Given the description of an element on the screen output the (x, y) to click on. 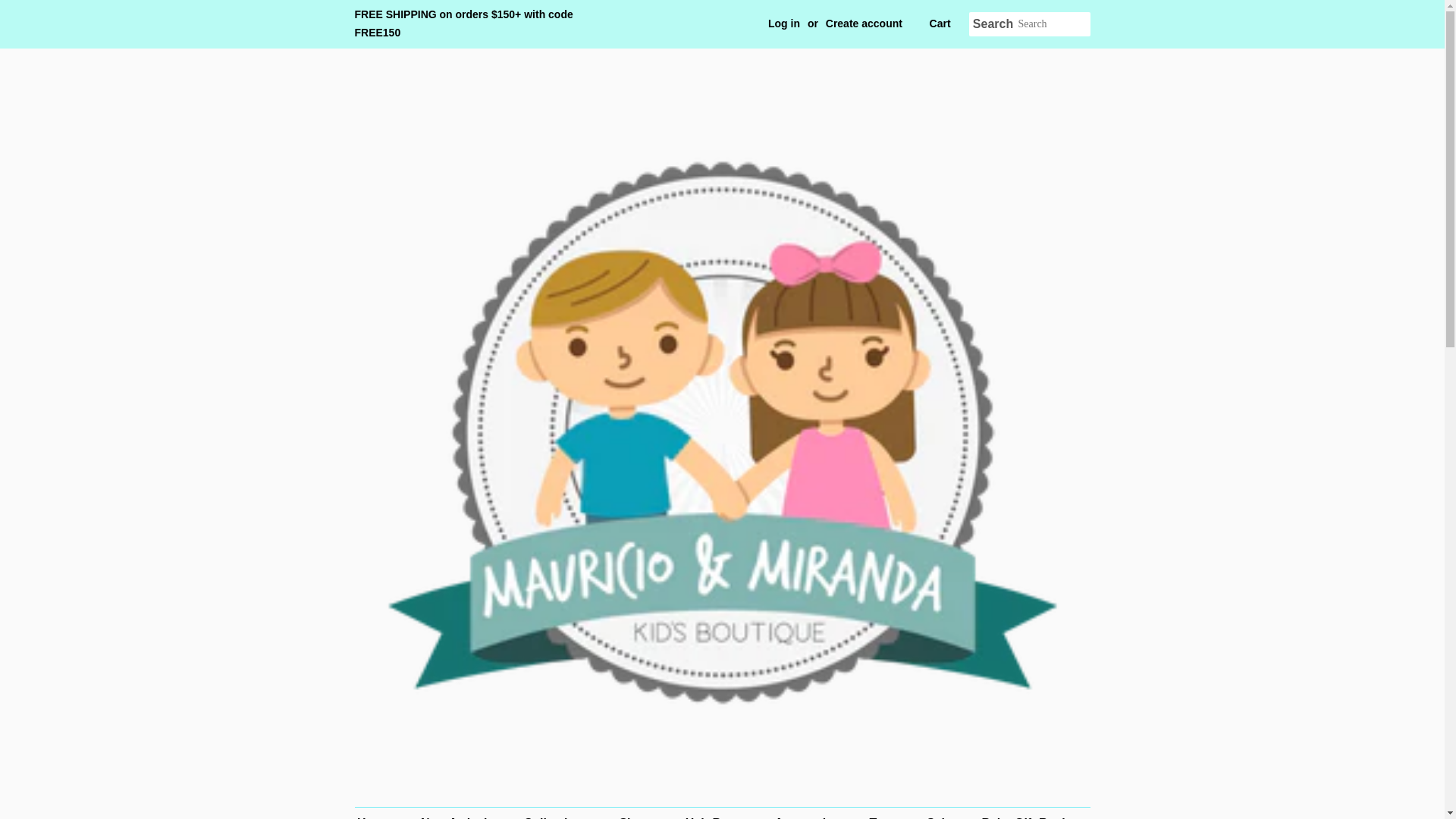
New Arrivals (458, 813)
Log in (783, 23)
Search (993, 24)
Cart (940, 24)
Create account (863, 23)
Home (381, 813)
Collections (558, 813)
